Given the description of an element on the screen output the (x, y) to click on. 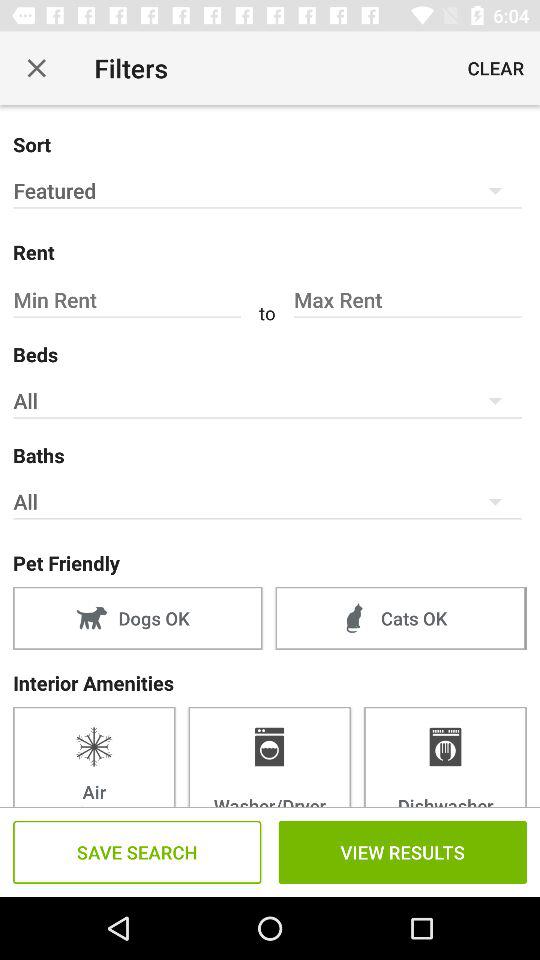
tap item next to washer/dryer icon (445, 756)
